Given the description of an element on the screen output the (x, y) to click on. 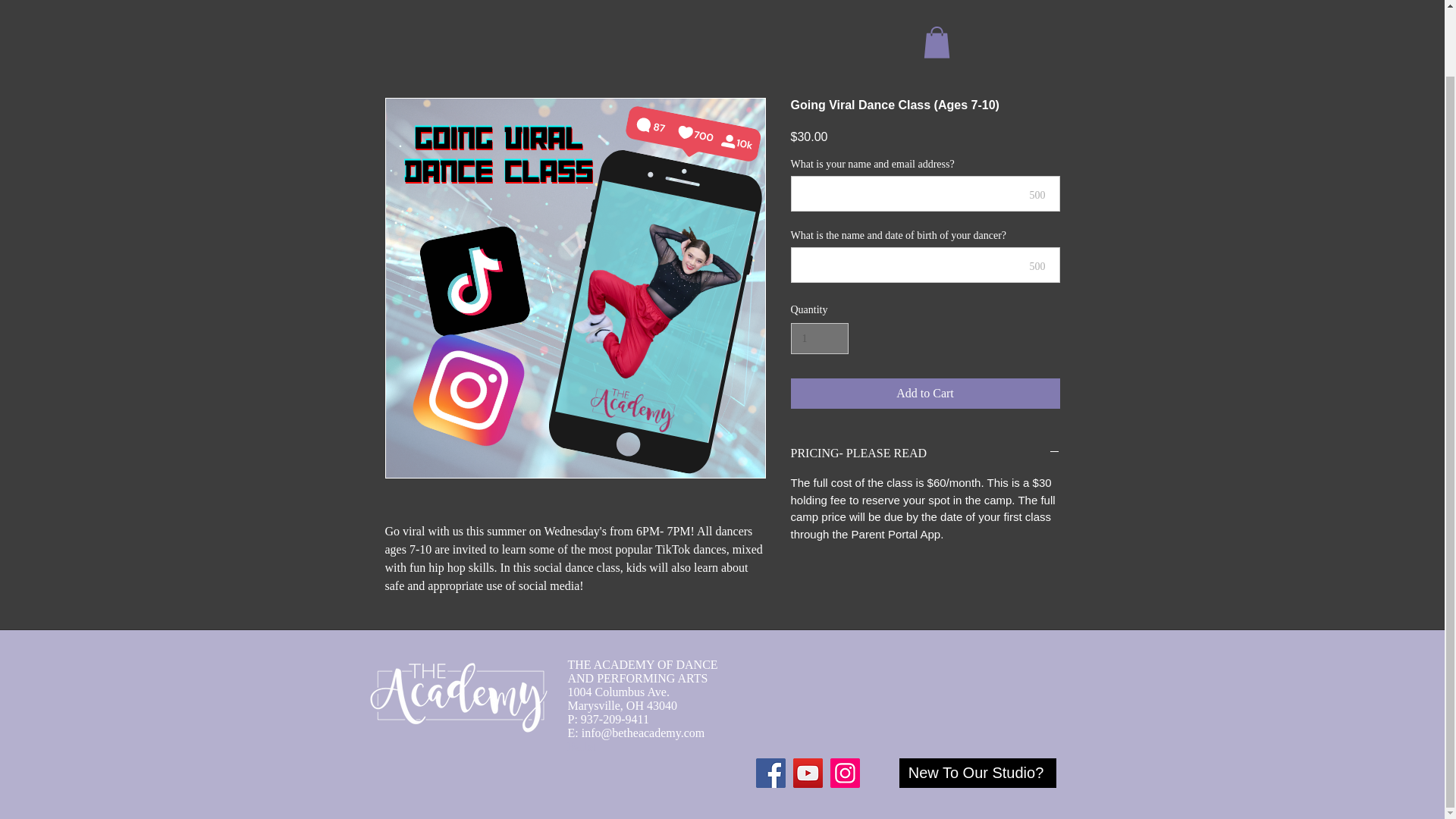
Add to Cart (924, 393)
PRICING- PLEASE READ (924, 453)
New To Our Studio? (978, 772)
1 (818, 337)
